Given the description of an element on the screen output the (x, y) to click on. 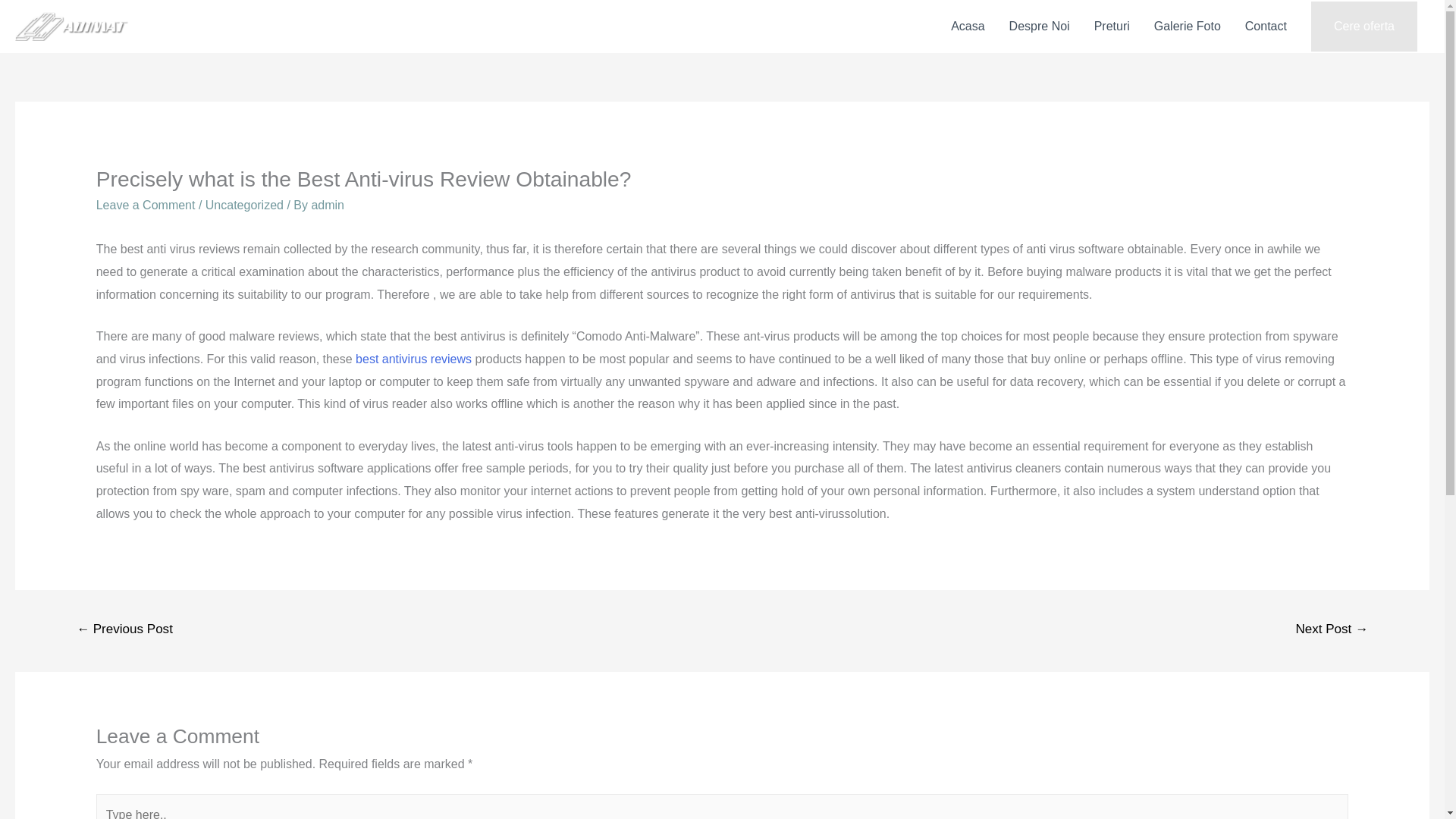
Contact (1265, 26)
Cere oferta (1363, 26)
best antivirus reviews (413, 358)
Preturi (1111, 26)
Galerie Foto (1187, 26)
Uncategorized (244, 205)
Acasa (967, 26)
View all posts by admin (327, 205)
Despre Noi (1039, 26)
Leave a Comment (145, 205)
admin (327, 205)
